Given the description of an element on the screen output the (x, y) to click on. 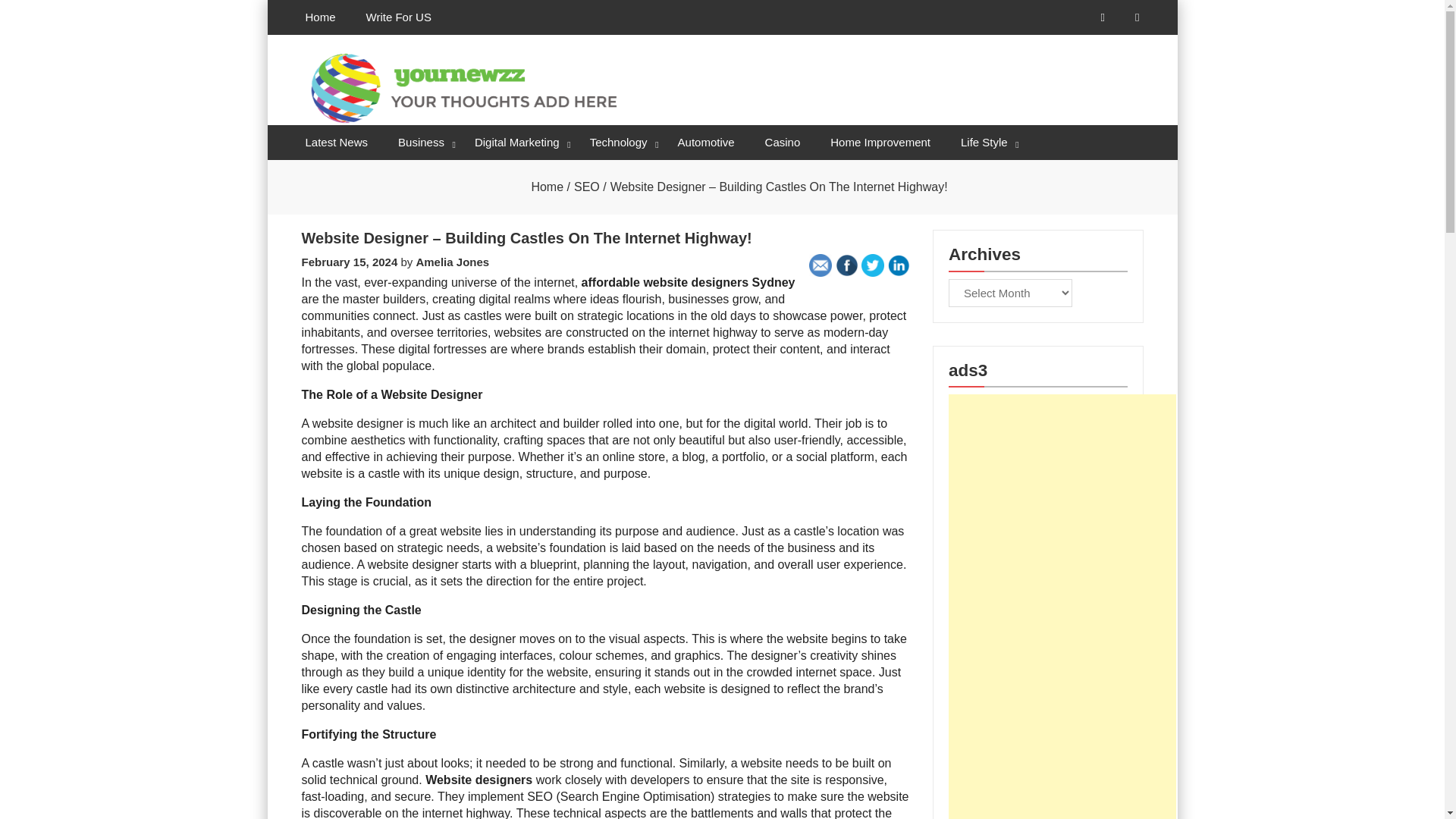
Technology (618, 142)
Latest News (335, 142)
Write For US (398, 17)
SEO (586, 186)
Casino (782, 142)
Amelia Jones (451, 261)
Digital Marketing (517, 142)
Business (421, 142)
Home (319, 17)
Automotive (705, 142)
Your Newzz (376, 153)
Home (547, 186)
Life Style (983, 142)
February 15, 2024 (349, 261)
Home Improvement (879, 142)
